Given the description of an element on the screen output the (x, y) to click on. 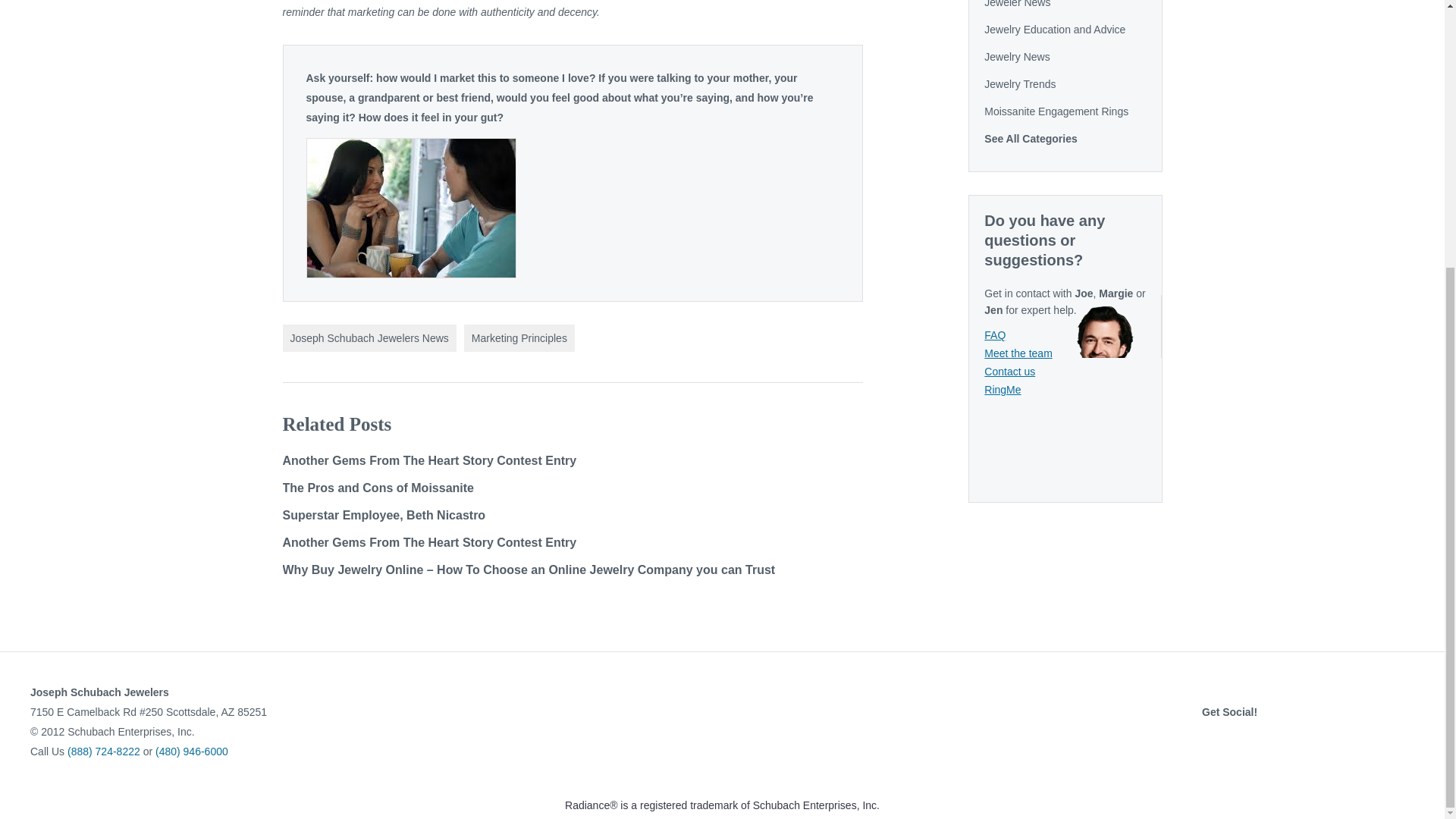
Another Gems From The Heart Story Contest Entry (429, 460)
Superstar Employee, Beth Nicastro (383, 514)
The Pros and Cons of Moissanite (377, 487)
Another Gems From The Heart Story Contest Entry (429, 542)
